Given the description of an element on the screen output the (x, y) to click on. 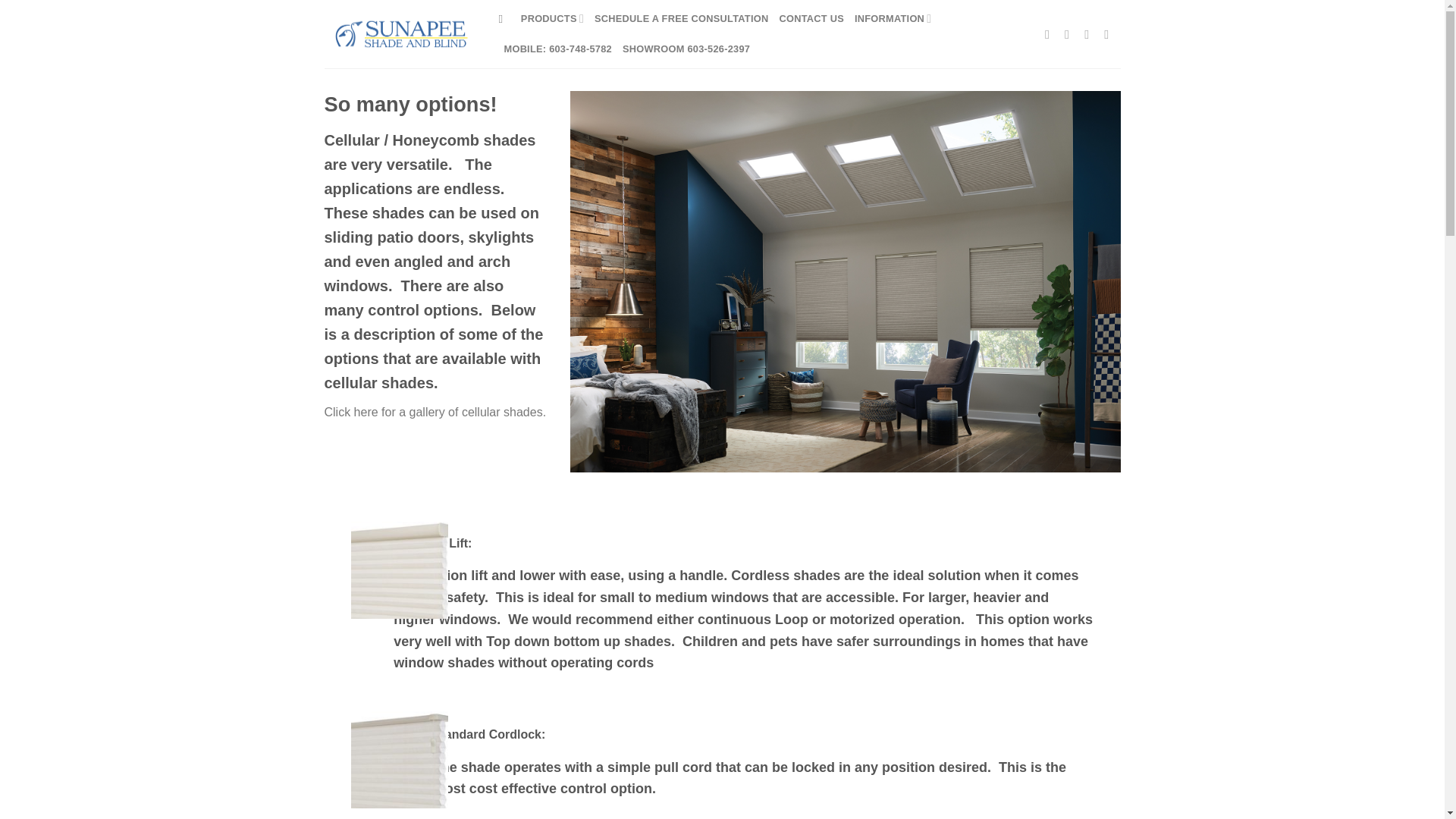
CONTACT US (811, 19)
PRODUCTS (552, 19)
Send us an email (1109, 33)
INFORMATION (892, 19)
SCHEDULE A FREE CONSULTATION (681, 19)
Follow on X (1090, 33)
MOBILE: 603-748-5782 (557, 49)
SHOWROOM 603-526-2397 (686, 49)
